Given the description of an element on the screen output the (x, y) to click on. 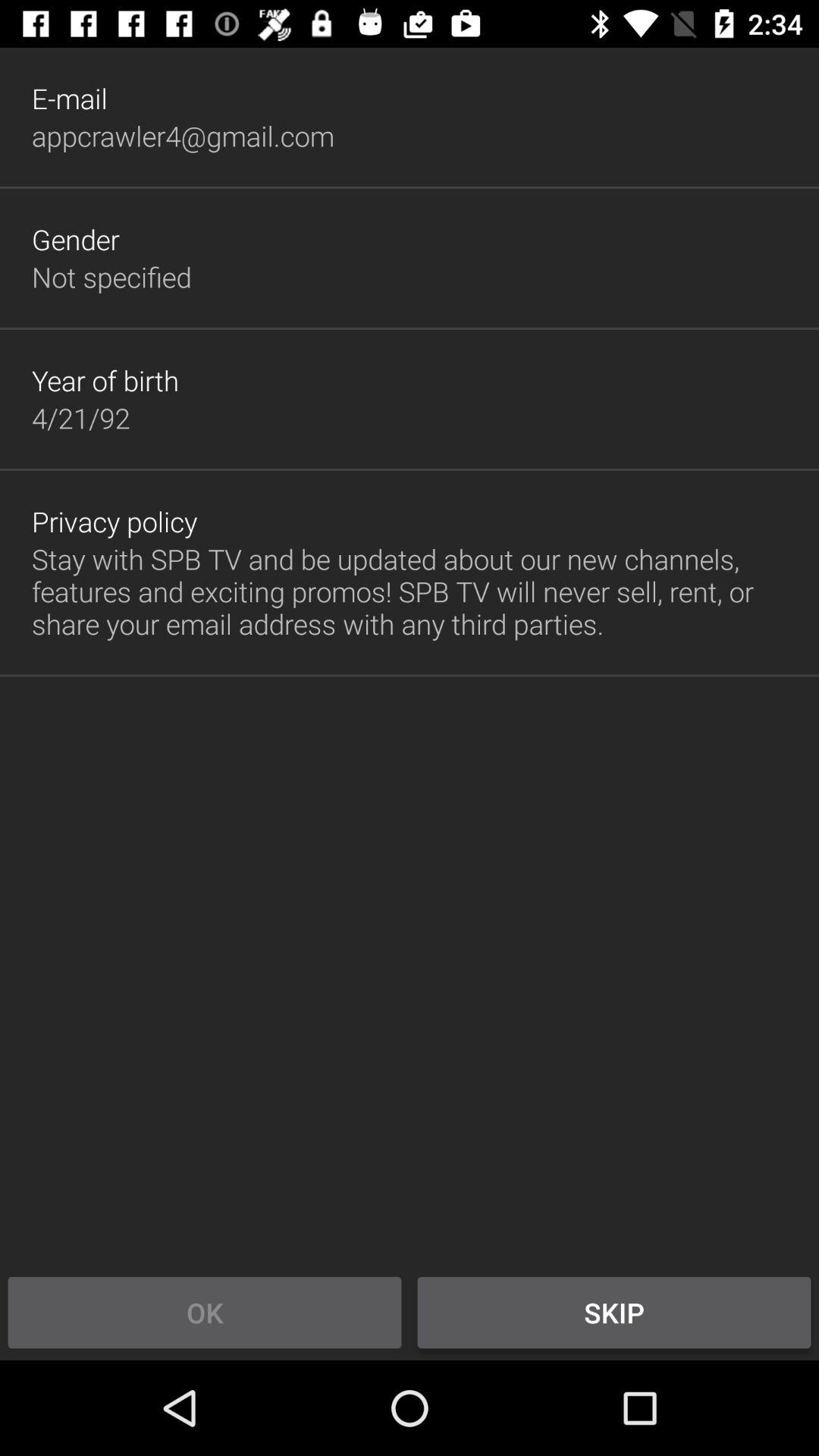
flip to the skip item (614, 1312)
